Given the description of an element on the screen output the (x, y) to click on. 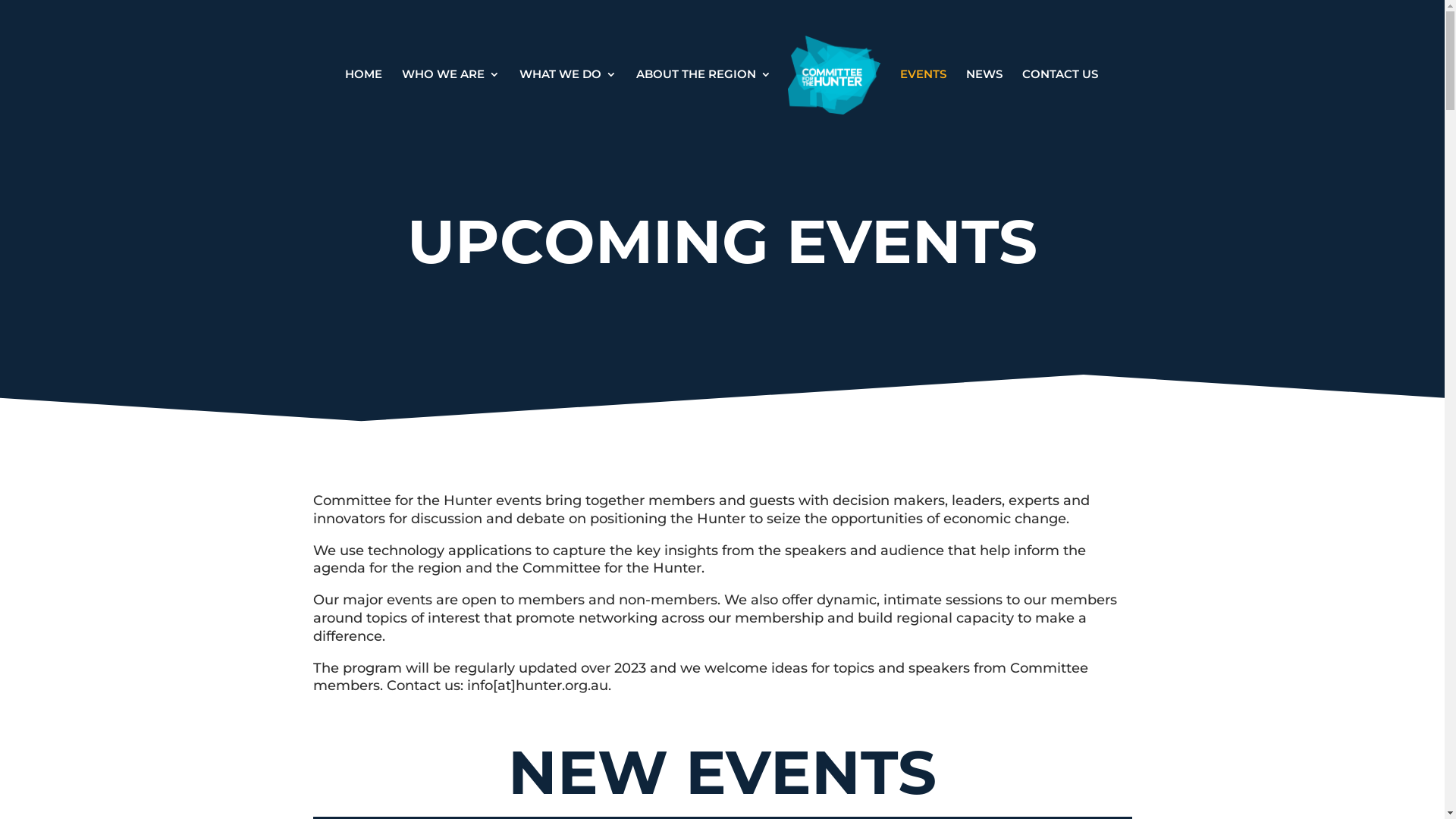
CONTACT US Element type: text (1060, 104)
WHO WE ARE Element type: text (450, 104)
WHAT WE DO Element type: text (567, 104)
NEWS Element type: text (984, 104)
ABOUT THE REGION Element type: text (703, 104)
HOME Element type: text (363, 104)
EVENTS Element type: text (923, 104)
